Given the description of an element on the screen output the (x, y) to click on. 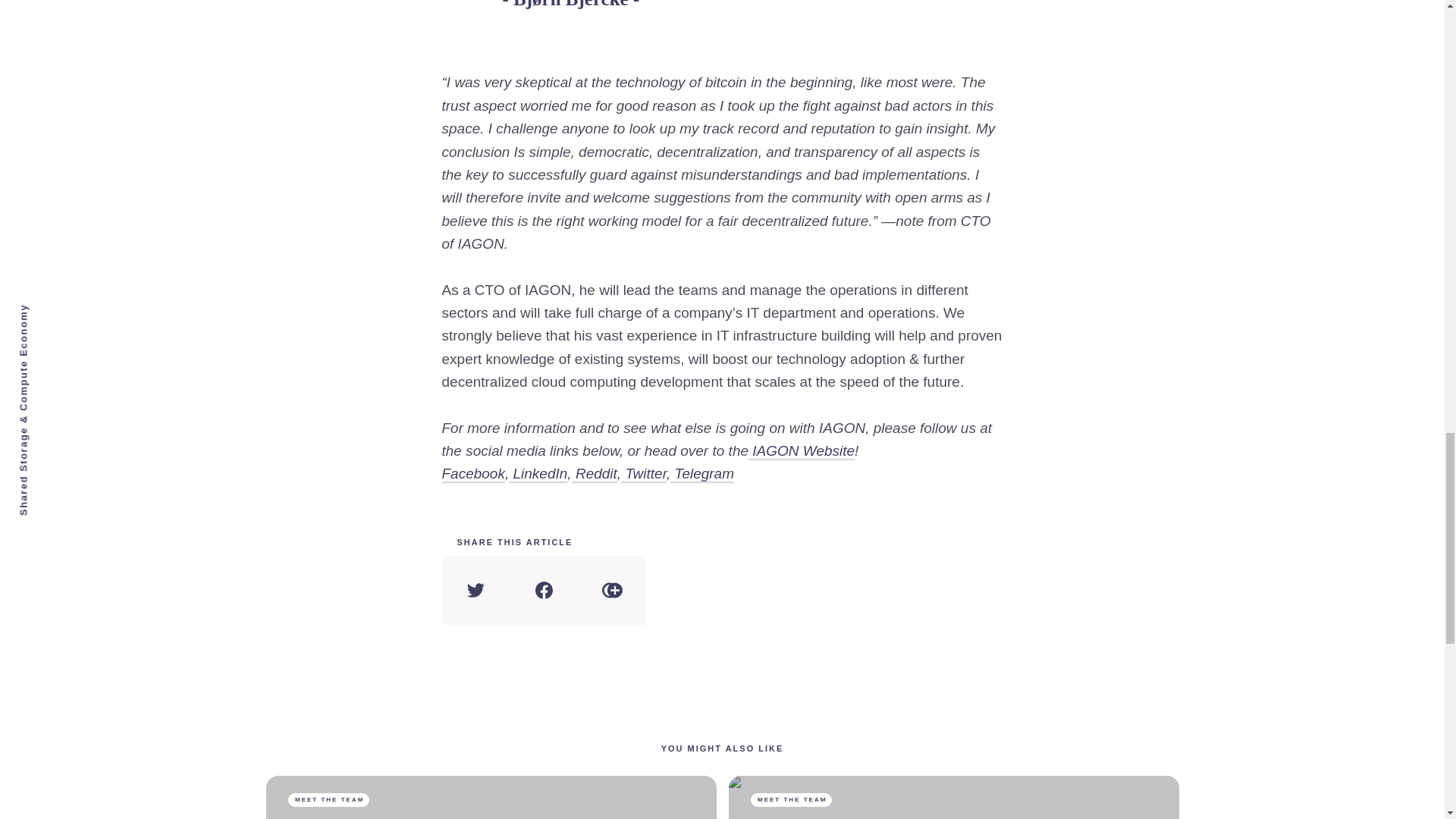
Twitter (643, 474)
LinkedIn (537, 474)
Reddit (594, 474)
Facebook (472, 474)
Telegram (701, 474)
IAGON Website (801, 451)
